Given the description of an element on the screen output the (x, y) to click on. 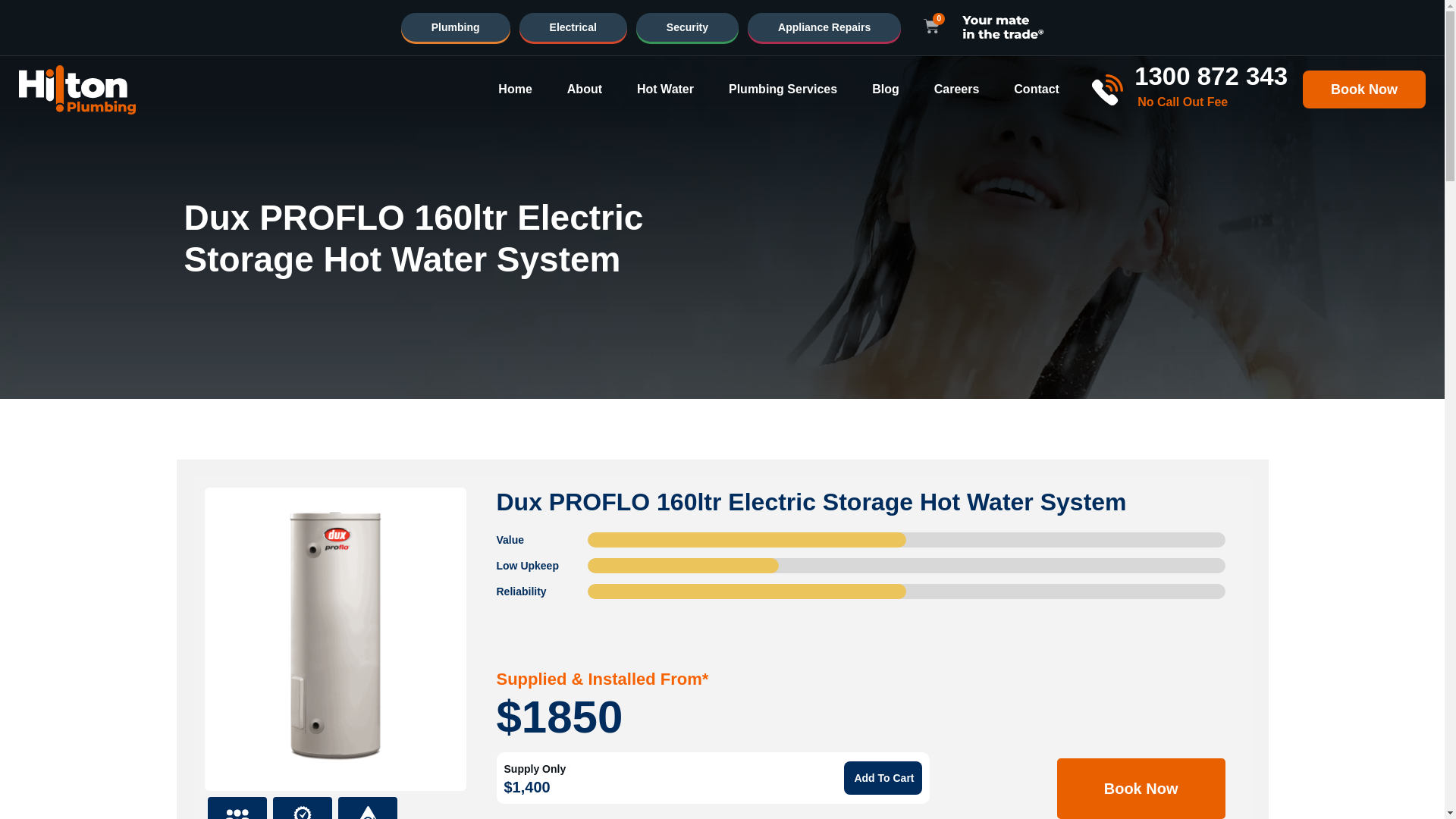
Security (687, 27)
Appliance Repairs (824, 27)
Hot Water (665, 89)
Plumbing Services (782, 89)
Electrical (573, 27)
Home (514, 89)
Plumbing (456, 27)
0 (931, 27)
About (585, 89)
